Given the description of an element on the screen output the (x, y) to click on. 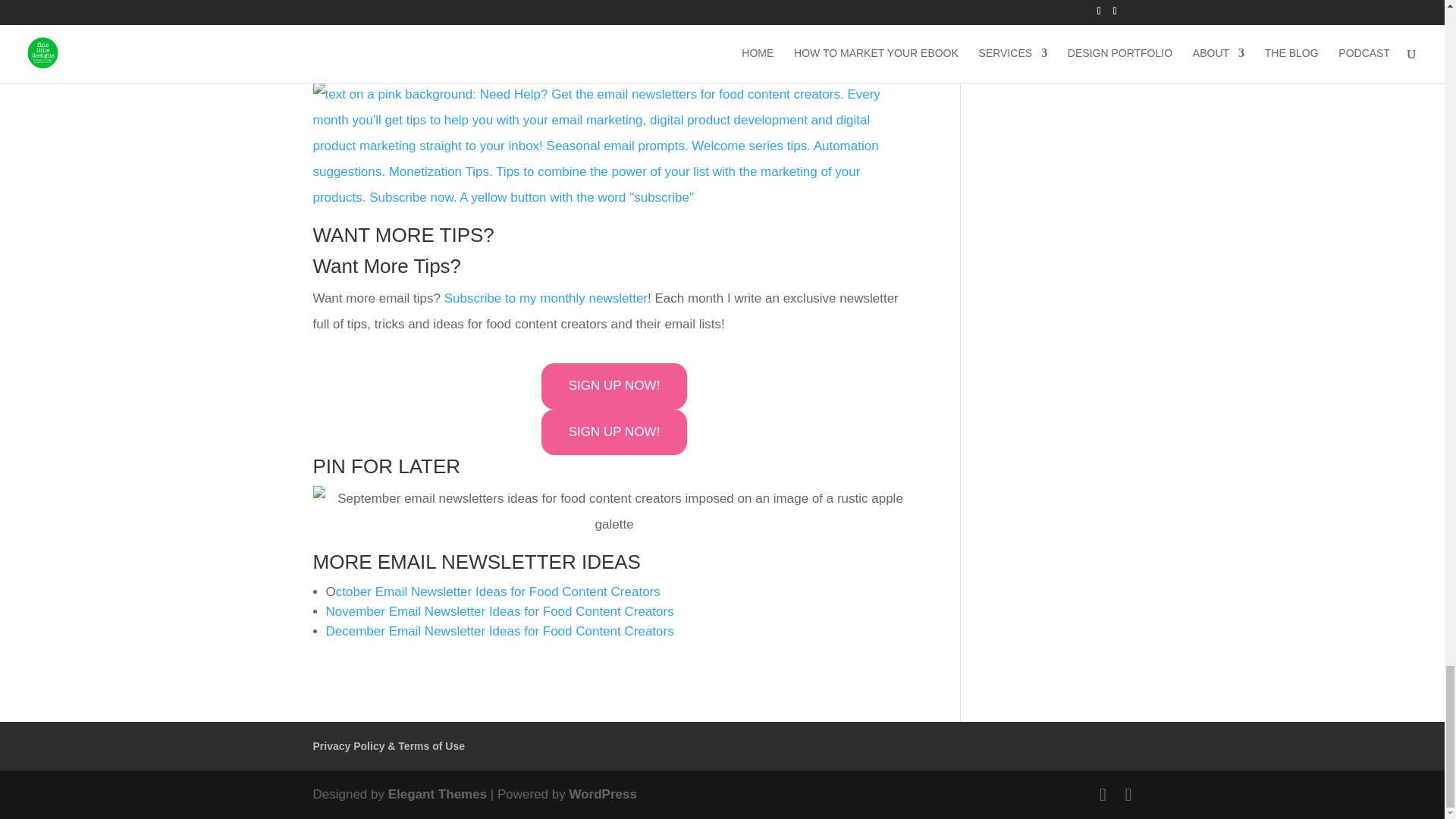
ctober Email Newsletter Ideas for Food Content Creators (498, 591)
SIGN UP NOW! (614, 432)
Elegant Themes (437, 794)
November Email Newsletter Ideas for Food Content Creators (500, 611)
Premium WordPress Themes (437, 794)
December Email Newsletter Ideas for Food Content Creators (500, 631)
WordPress (602, 794)
SIGN UP NOW! (614, 386)
Subscribe to my monthly newsletter (545, 298)
